Given the description of an element on the screen output the (x, y) to click on. 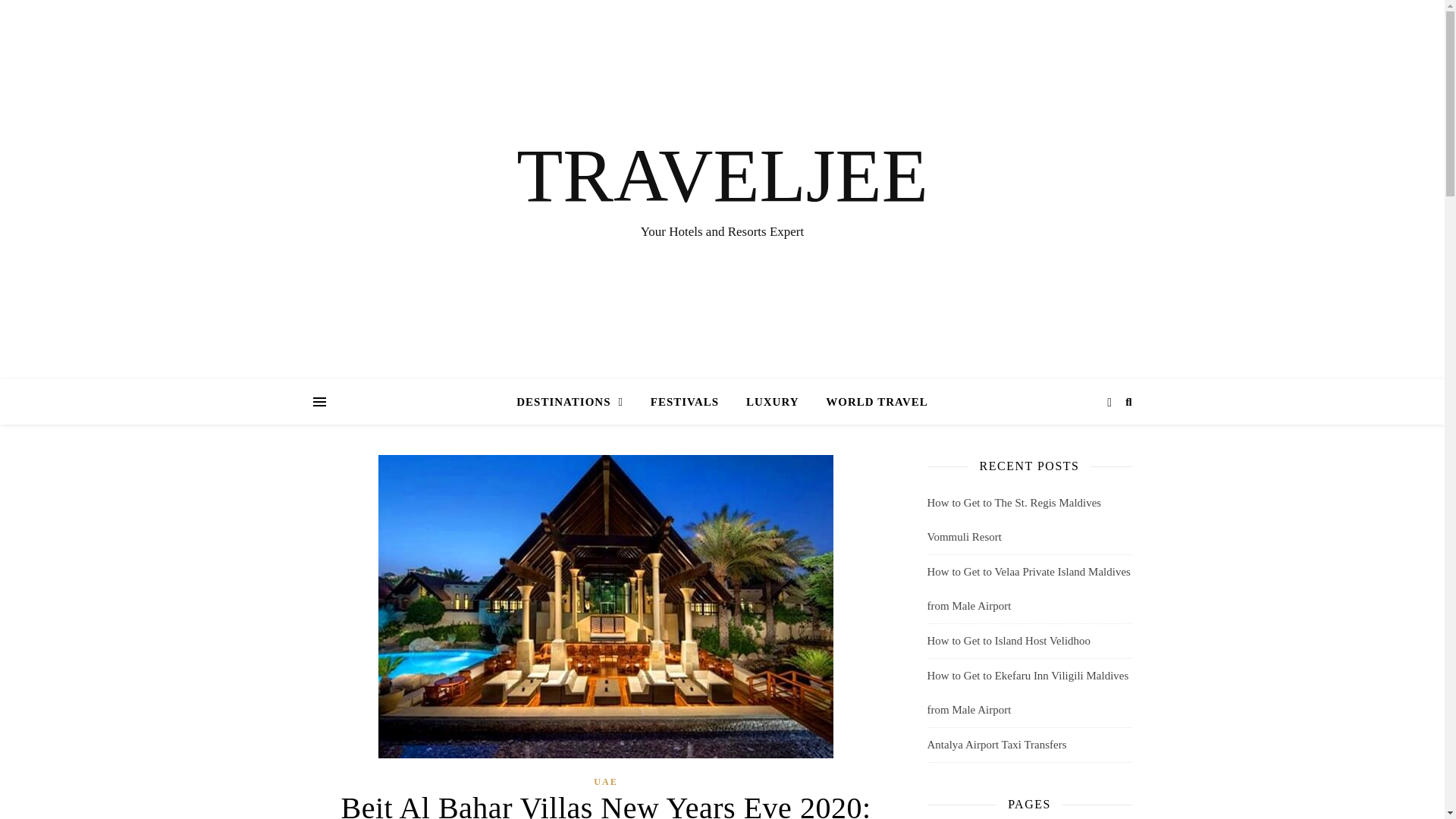
FESTIVALS (684, 402)
LUXURY (771, 402)
DESTINATIONS (575, 402)
WORLD TRAVEL (870, 402)
